Given the description of an element on the screen output the (x, y) to click on. 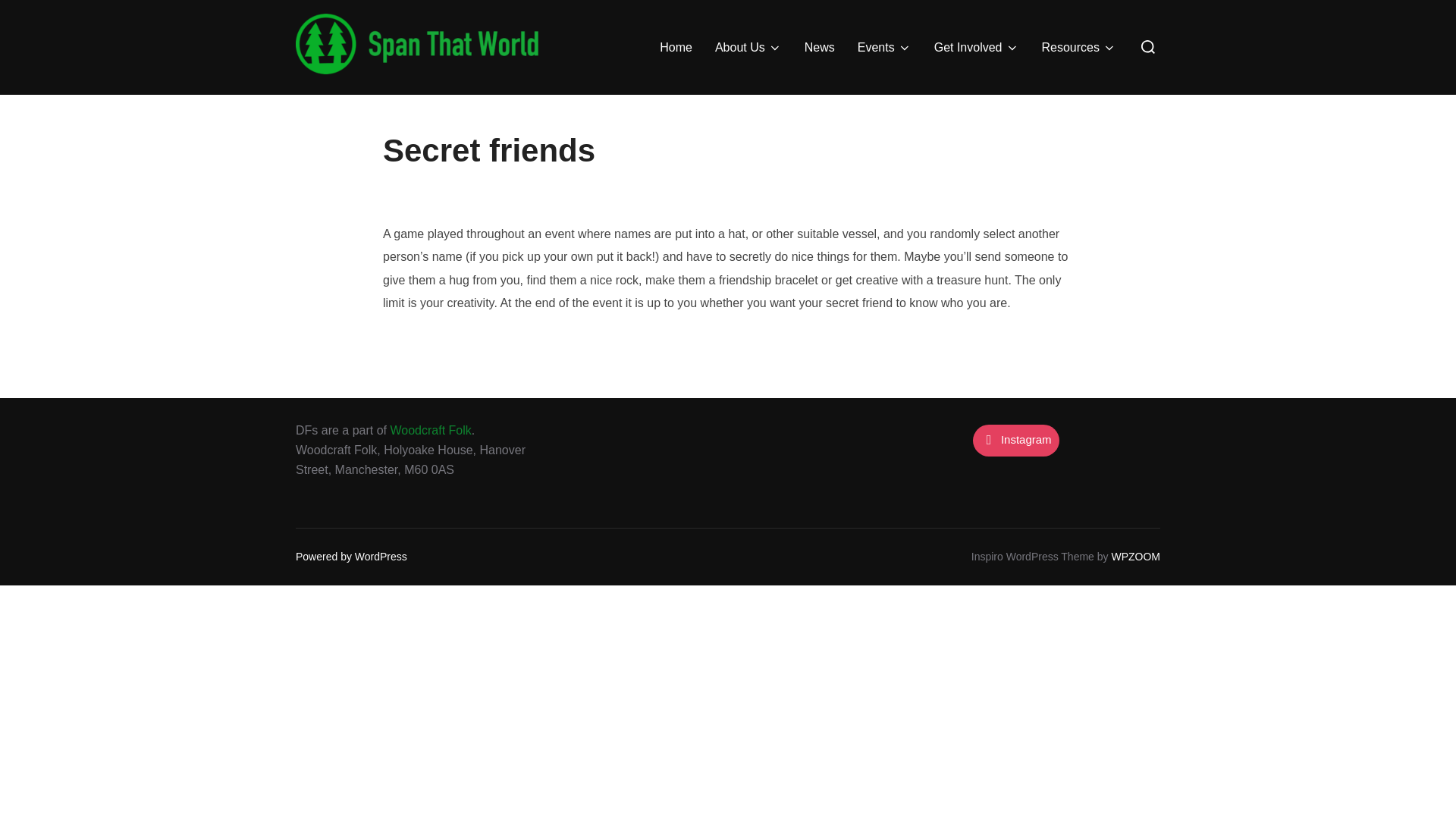
Instagram (1015, 440)
About Us (747, 47)
Resources (1079, 47)
News (819, 47)
Get Involved (976, 47)
Events (884, 47)
Home (676, 47)
